Given the description of an element on the screen output the (x, y) to click on. 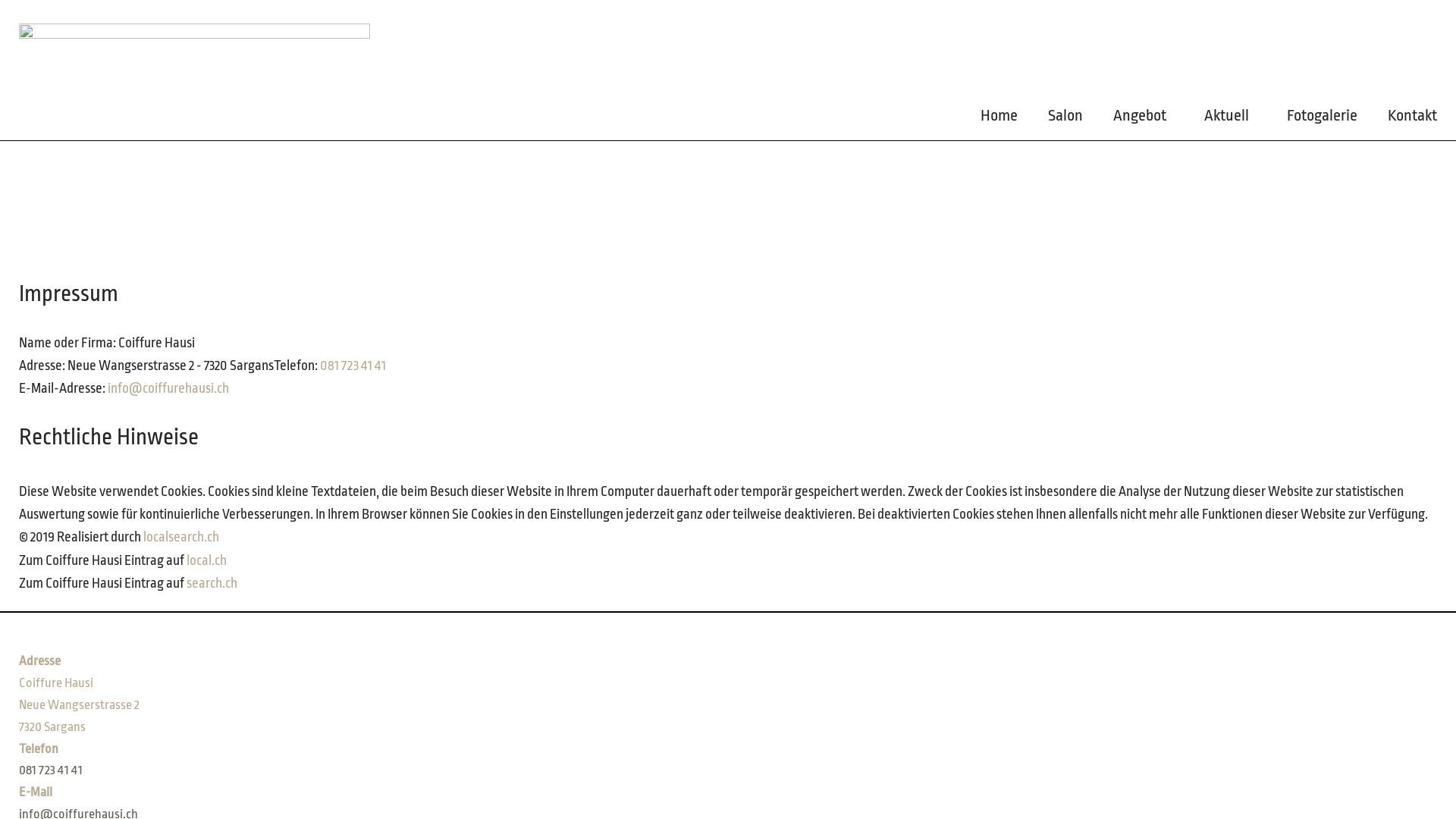
localsearch.ch Element type: text (181, 536)
info@coiffurehausi.ch Element type: text (168, 387)
Kontakt Element type: text (1412, 118)
081 723 41 41 Element type: text (352, 365)
search.ch Element type: text (211, 582)
081 723 41 41 Element type: text (50, 769)
Angebot Element type: text (1143, 118)
Fotogalerie Element type: text (1321, 118)
Salon Element type: text (1065, 118)
Home Element type: text (998, 118)
Aktuell Element type: text (1230, 118)
local.ch Element type: text (206, 559)
